Given the description of an element on the screen output the (x, y) to click on. 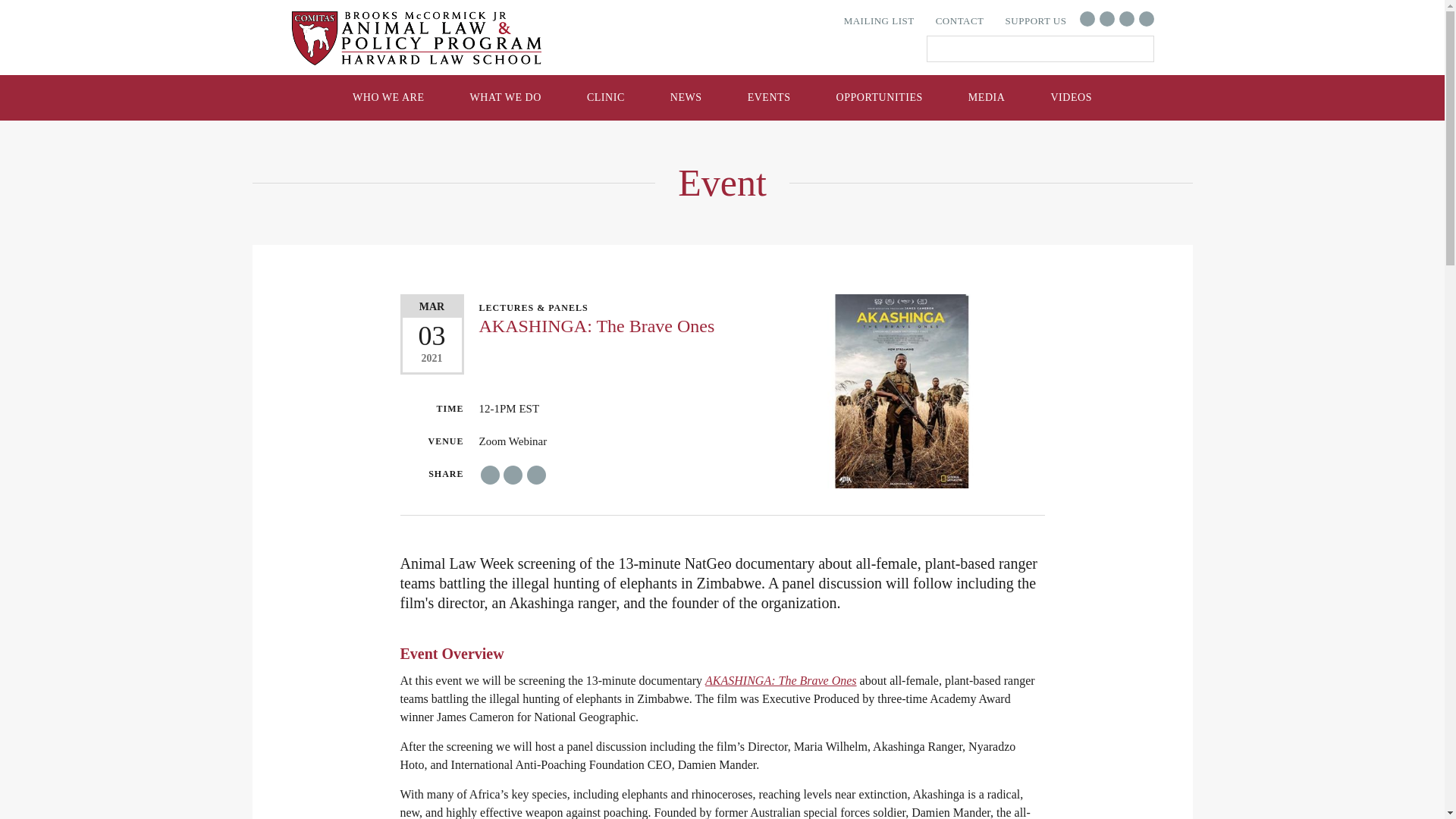
MEDIA (986, 97)
CLINIC (606, 97)
SUPPORT US (1035, 20)
Search Site (1040, 49)
OPPORTUNITIES (879, 97)
EVENTS (769, 97)
MAILING LIST (878, 20)
VIDEOS (1071, 97)
WHO WE ARE (388, 97)
NEWS (686, 97)
